Given the description of an element on the screen output the (x, y) to click on. 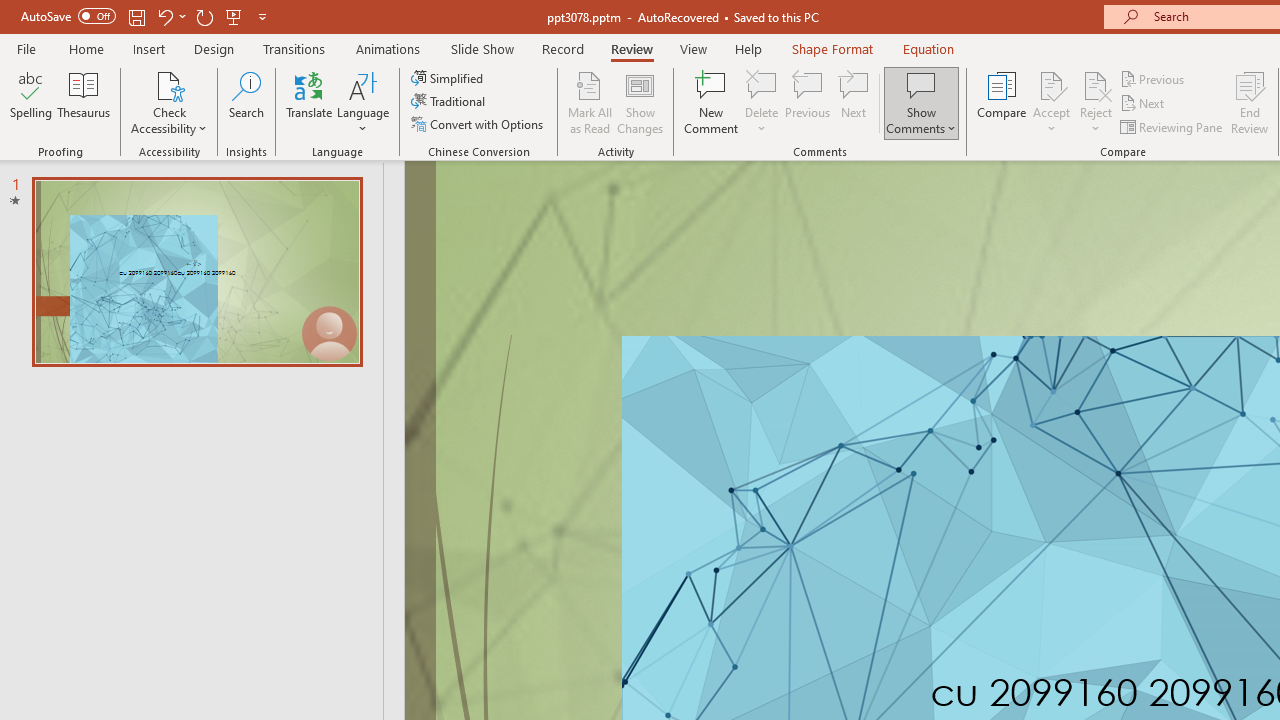
Accept (1051, 102)
Reviewing Pane (1172, 126)
Thesaurus... (83, 102)
Previous (1153, 78)
Next (1144, 103)
Simplified (449, 78)
Accept Change (1051, 84)
Language (363, 102)
